Given the description of an element on the screen output the (x, y) to click on. 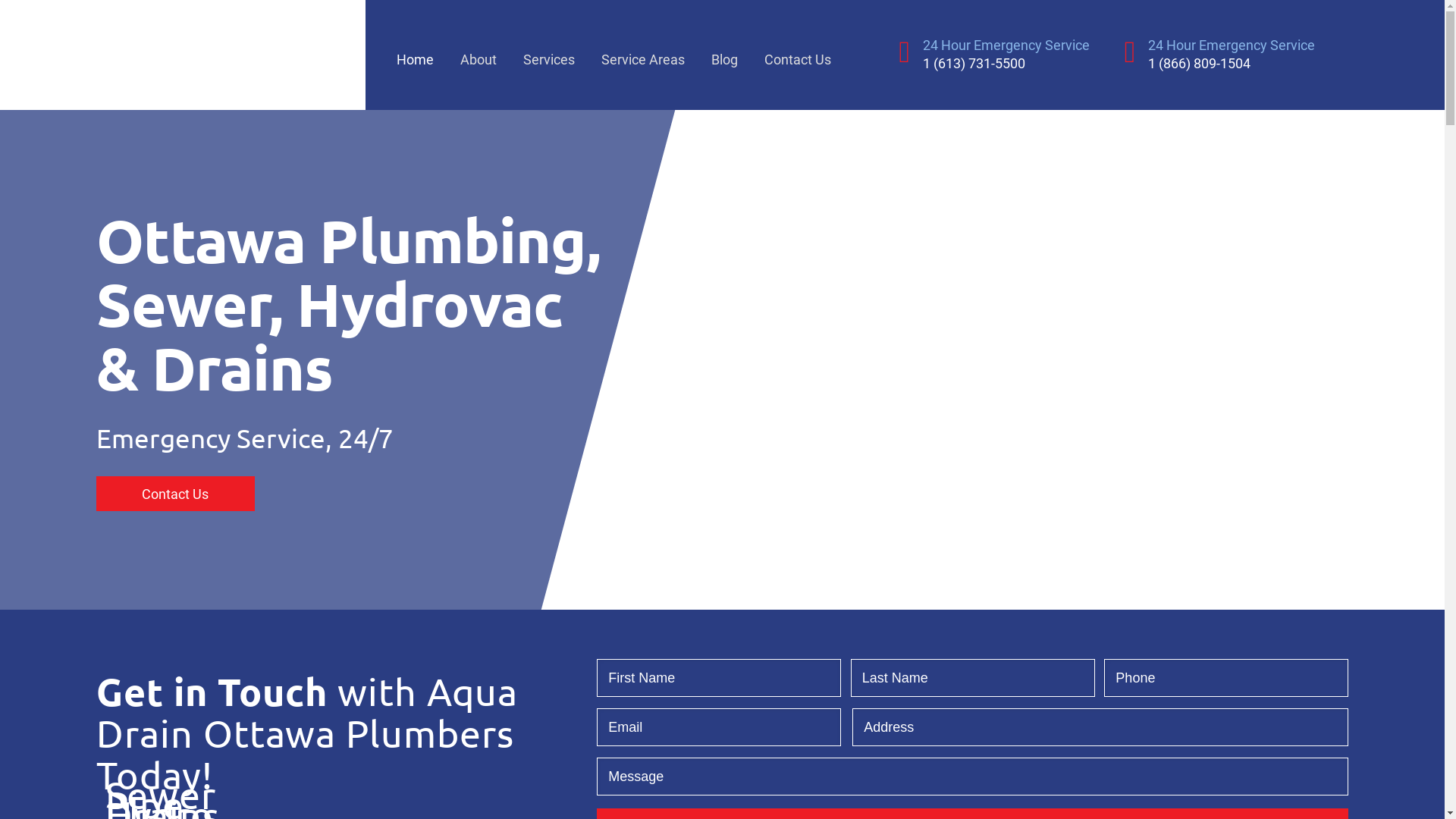
Service Areas Element type: text (656, 54)
Home Element type: text (428, 54)
1 (866) 809-1504 Element type: text (1199, 62)
Blog Element type: text (737, 54)
Contact Us Element type: text (810, 54)
Services Element type: text (562, 54)
1 (613) 731-5500 Element type: text (973, 62)
About Element type: text (491, 54)
Contact Us Element type: text (174, 493)
